Given the description of an element on the screen output the (x, y) to click on. 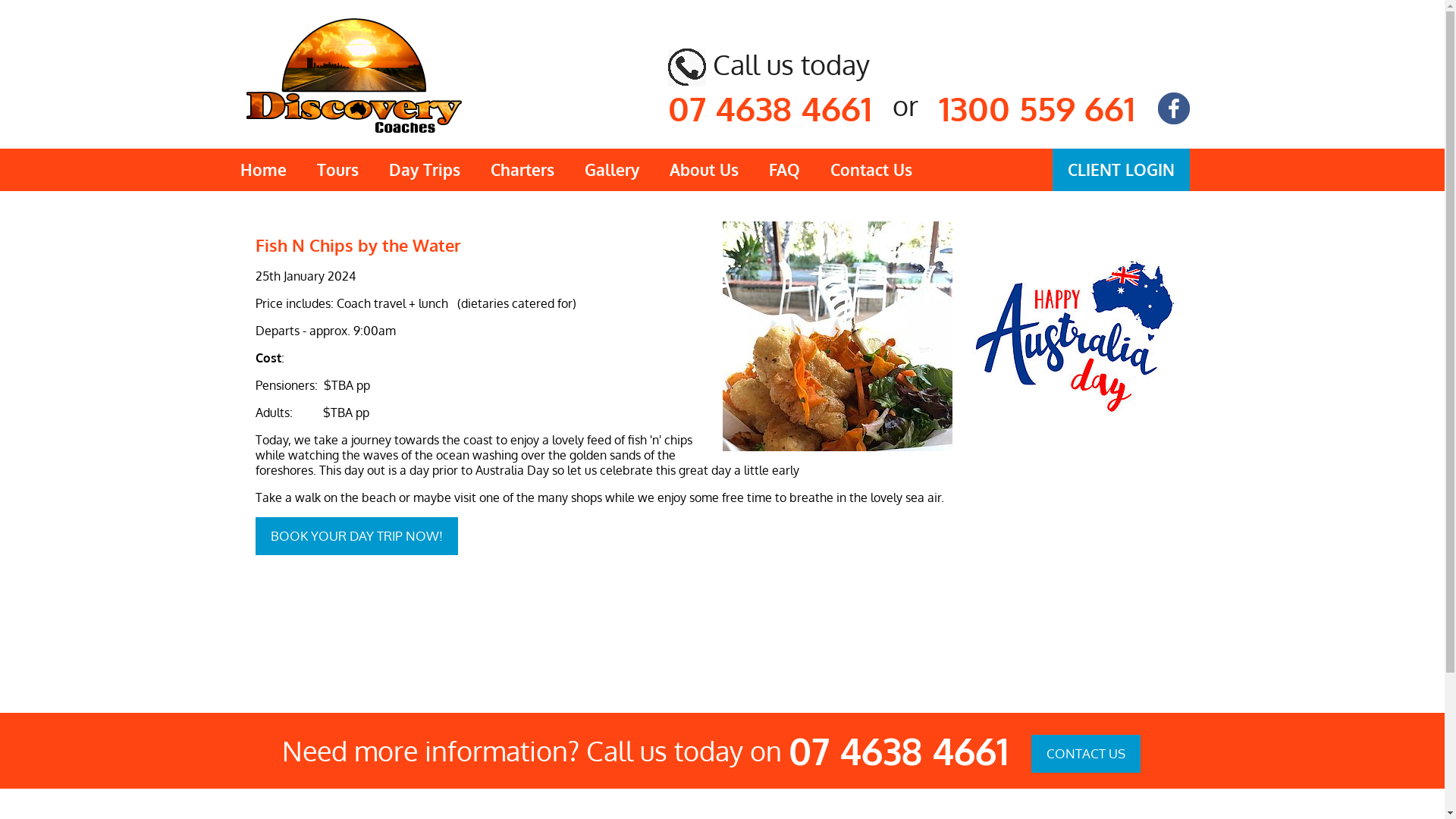
Day Trips Element type: text (423, 169)
07 4638 4661 Element type: text (769, 107)
About Us Element type: text (703, 169)
Gallery Element type: text (610, 169)
Tours Element type: text (337, 169)
1300 559 661 Element type: text (1036, 107)
BOOK YOUR DAY TRIP NOW! Element type: text (355, 536)
Contact Us Element type: text (870, 169)
CONTACT US Element type: text (1085, 753)
Home Element type: text (262, 169)
CLIENT LOGIN Element type: text (1120, 169)
07 4638 4661 Element type: text (898, 750)
FAQ Element type: text (784, 169)
Charters Element type: text (521, 169)
